Given the description of an element on the screen output the (x, y) to click on. 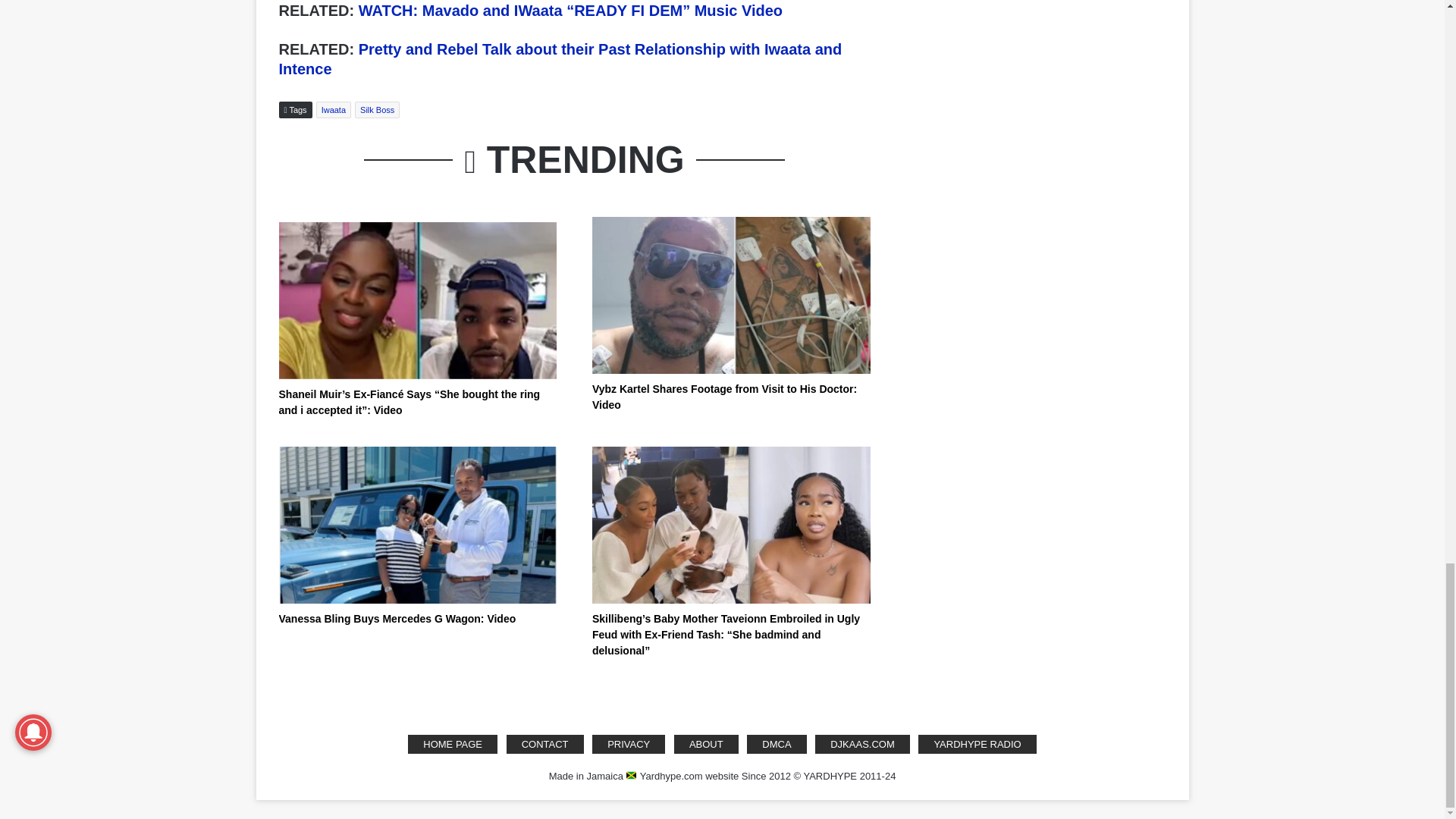
Silk Boss (376, 109)
Iwaata (332, 109)
